Given the description of an element on the screen output the (x, y) to click on. 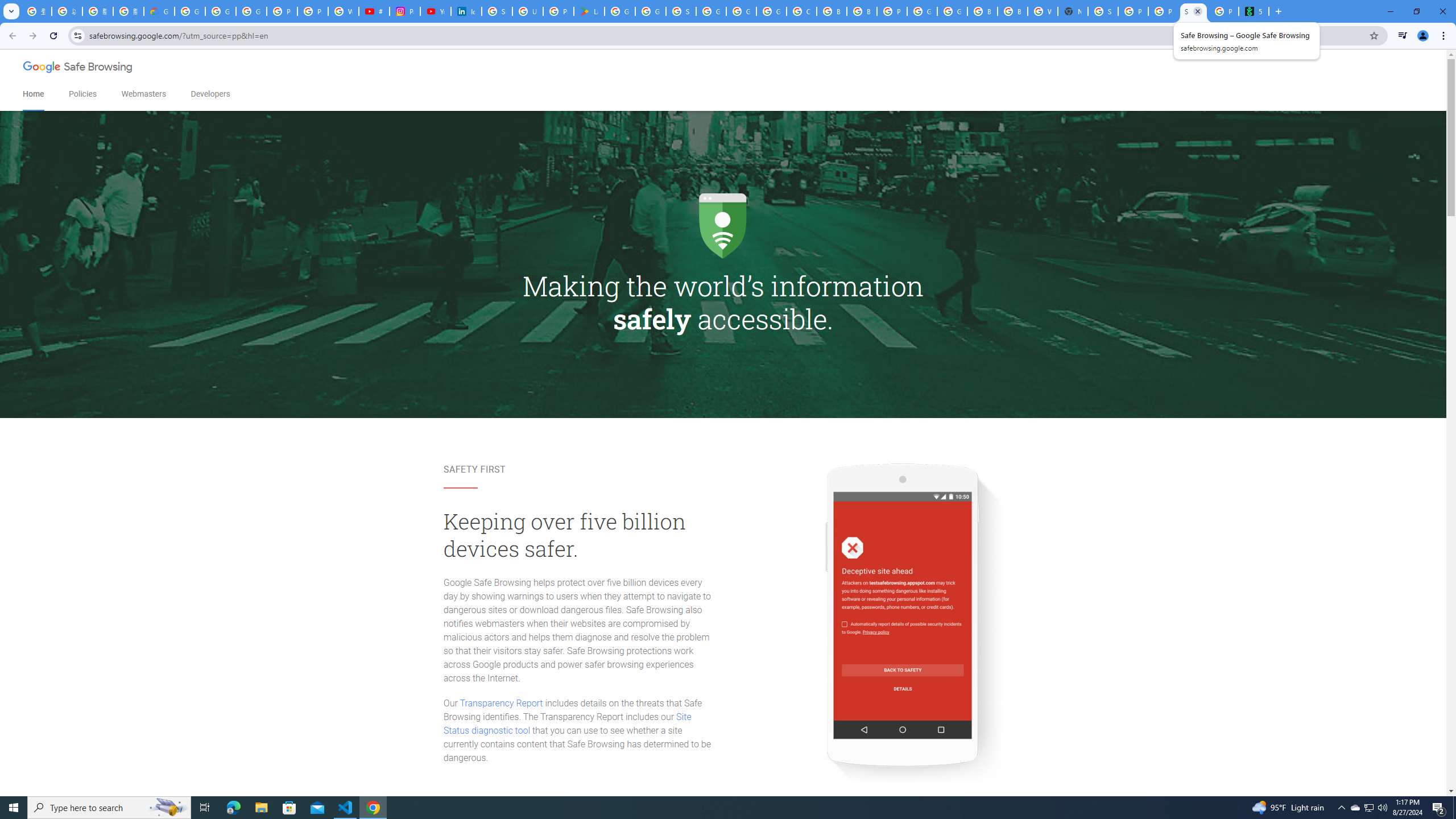
Transparency Report (501, 703)
Browse Chrome as a guest - Computer - Google Chrome Help (982, 11)
Google Cloud Platform (951, 11)
YouTube Culture & Trends - On The Rise: Handcam Videos (434, 11)
Sign in - Google Accounts (1102, 11)
Developers (210, 94)
